Given the description of an element on the screen output the (x, y) to click on. 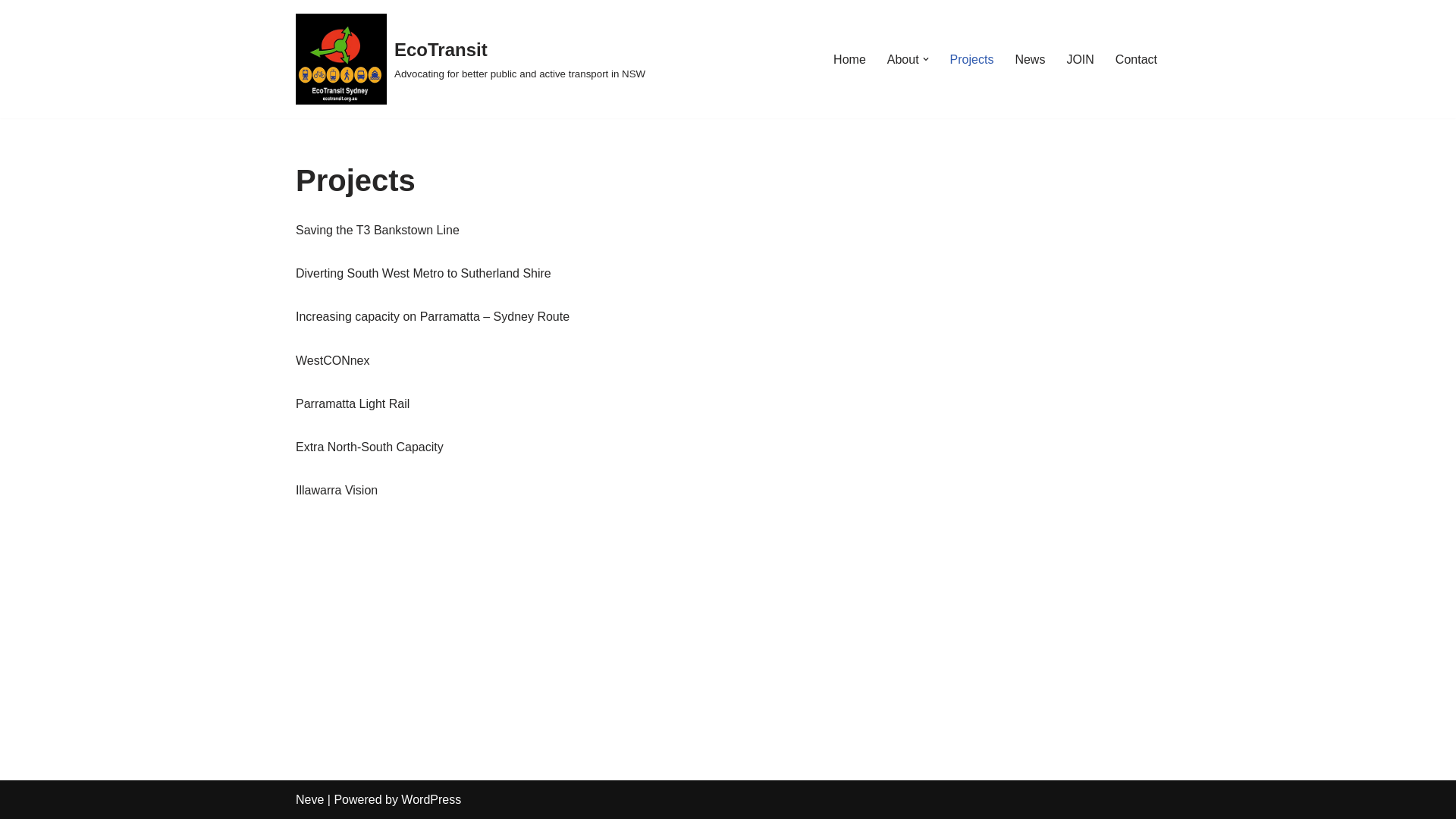
Home Element type: text (849, 59)
News Element type: text (1029, 59)
Contact Element type: text (1136, 59)
WordPress Element type: text (431, 799)
Projects Element type: text (972, 59)
JOIN Element type: text (1079, 59)
About Element type: text (903, 59)
Skip to content Element type: text (11, 31)
Neve Element type: text (309, 799)
